Given the description of an element on the screen output the (x, y) to click on. 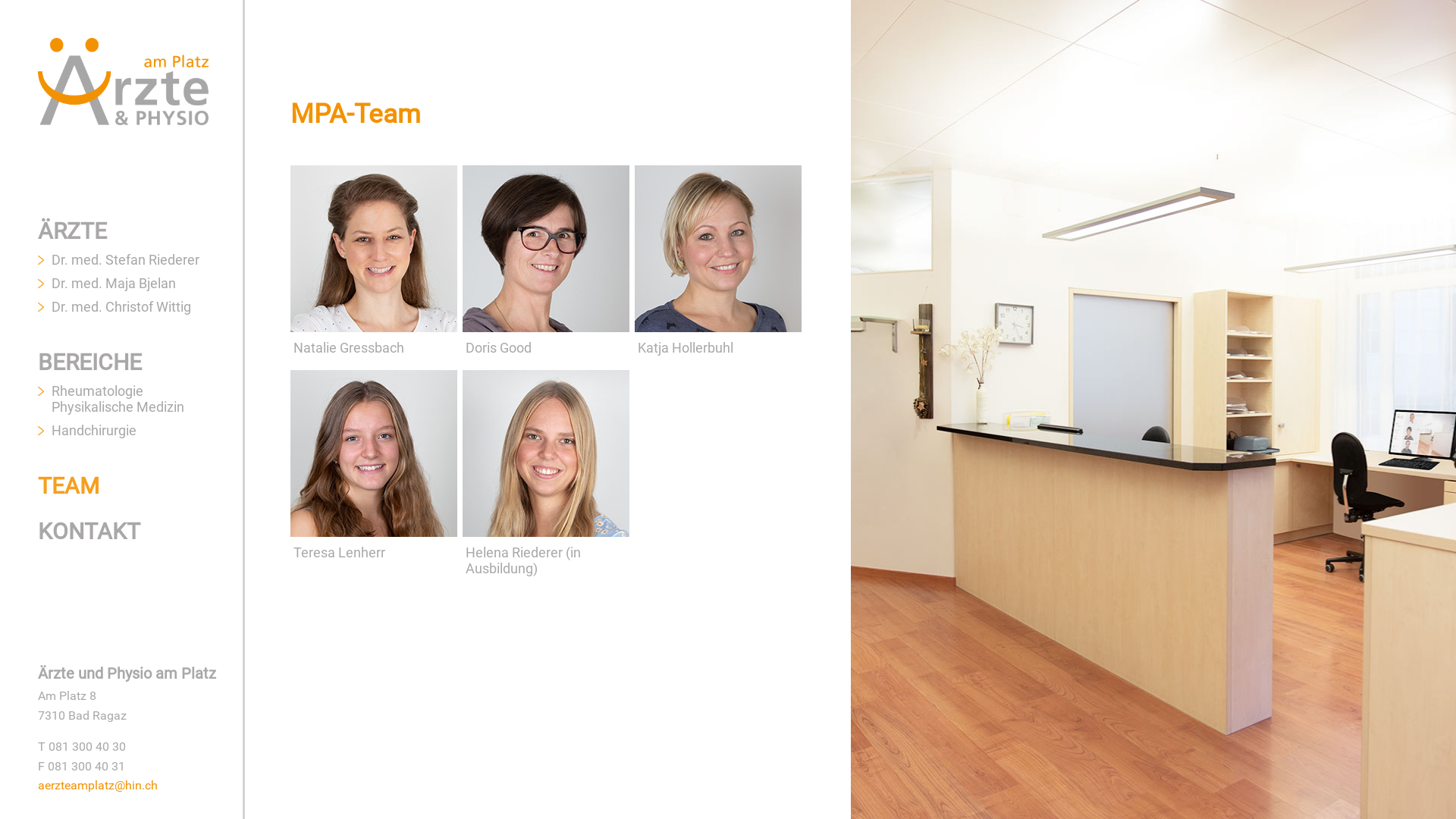
KONTAKT Element type: text (88, 530)
Rheumatologie
Physikalische Medizin Element type: text (117, 398)
BEREICHE Element type: text (89, 361)
TEAM Element type: text (68, 485)
Dr. med. Maja Bjelan Element type: text (113, 283)
Dr. med. Stefan Riederer Element type: text (125, 259)
aerzteamplatz@hin.ch Element type: text (97, 785)
Handchirurgie Element type: text (93, 430)
Dr. med. Christof Wittig Element type: text (121, 306)
